Given the description of an element on the screen output the (x, y) to click on. 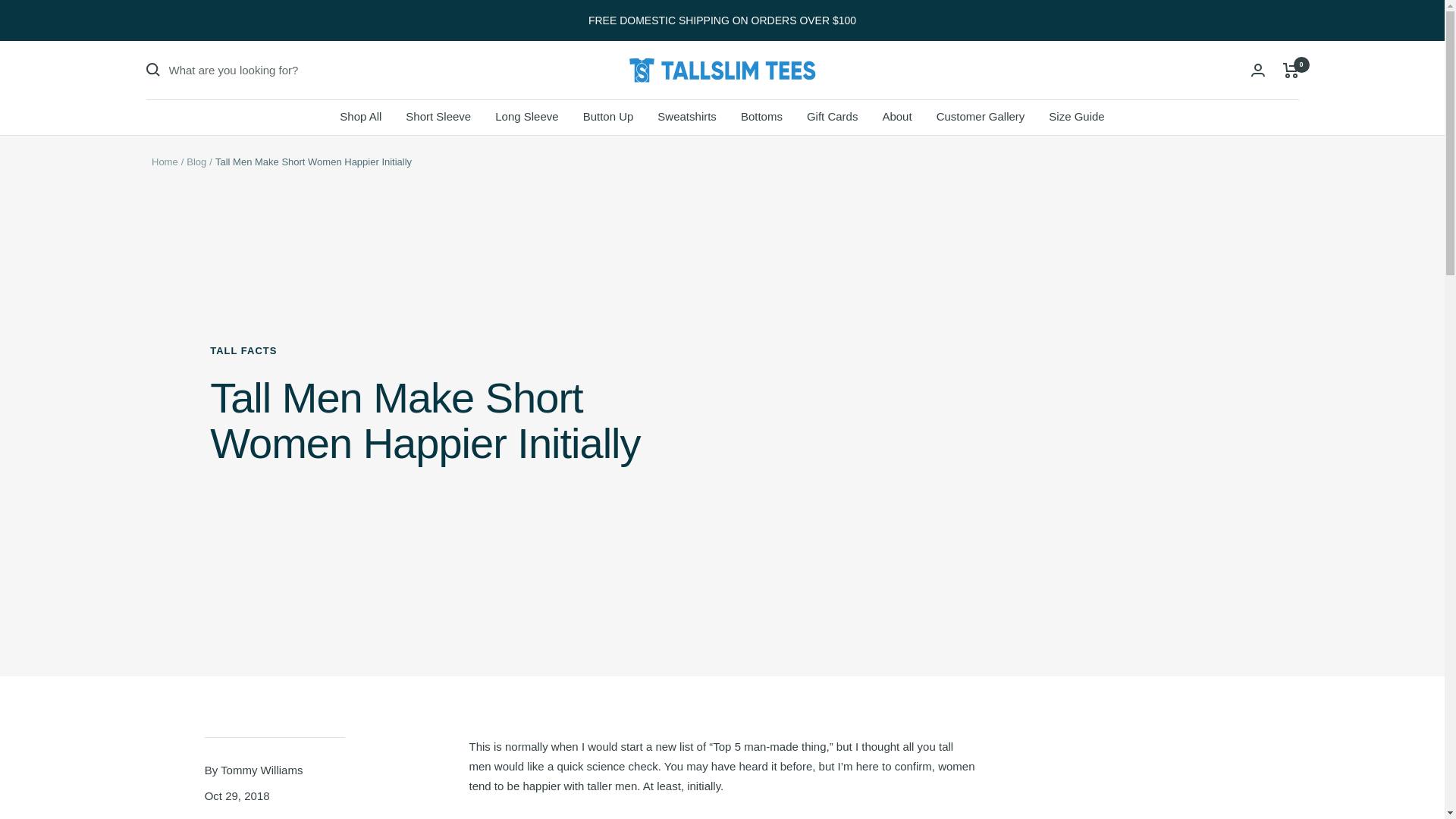
Customer Gallery (980, 116)
Gift Cards (832, 116)
Long Sleeve (526, 116)
Sweatshirts (687, 116)
Button Up (608, 116)
TALL FACTS (438, 350)
Home (164, 161)
0 (1290, 69)
Blog (196, 161)
Bottoms (762, 116)
